Given the description of an element on the screen output the (x, y) to click on. 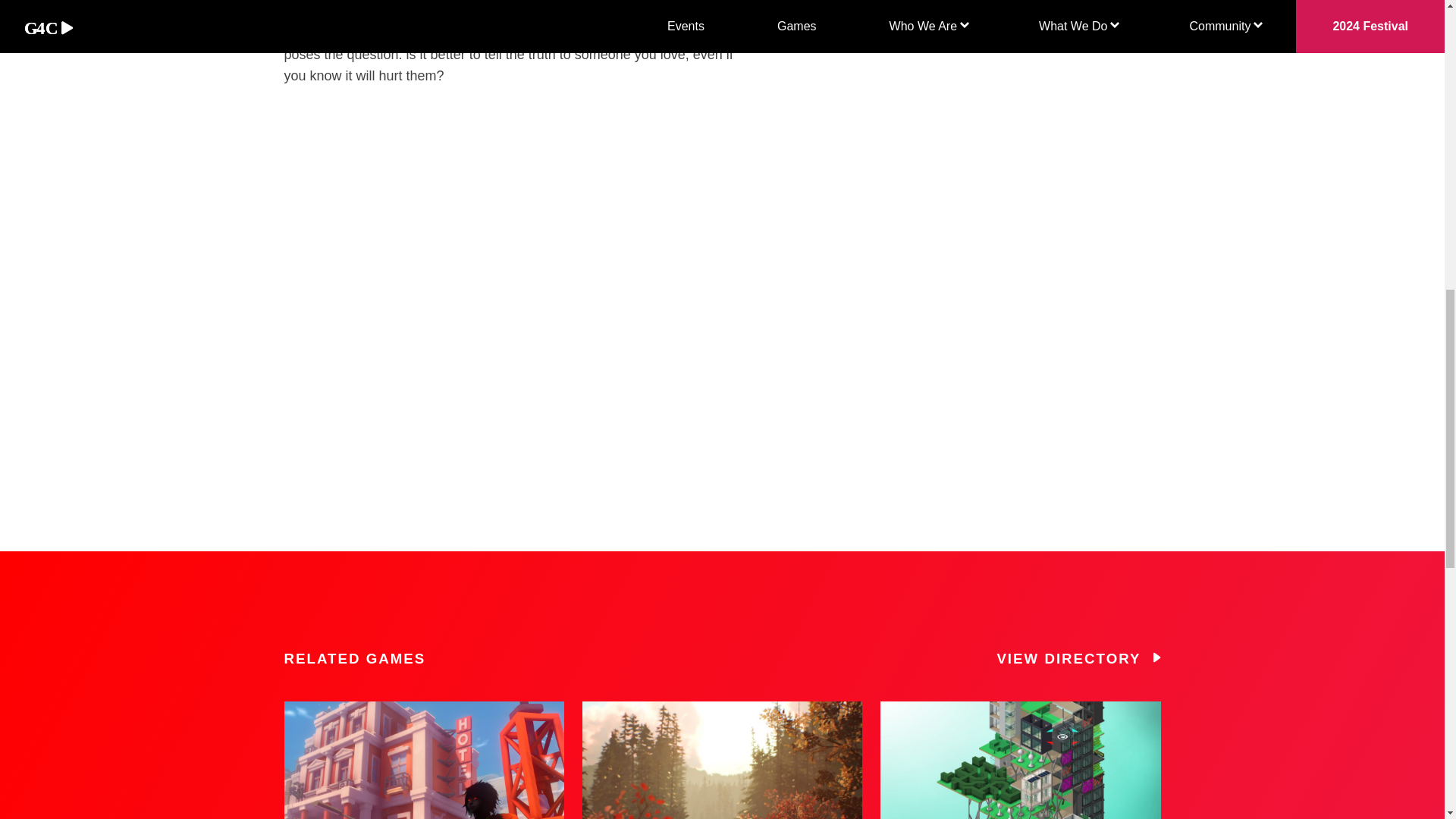
Heirloom: Trailer (480, 300)
